Given the description of an element on the screen output the (x, y) to click on. 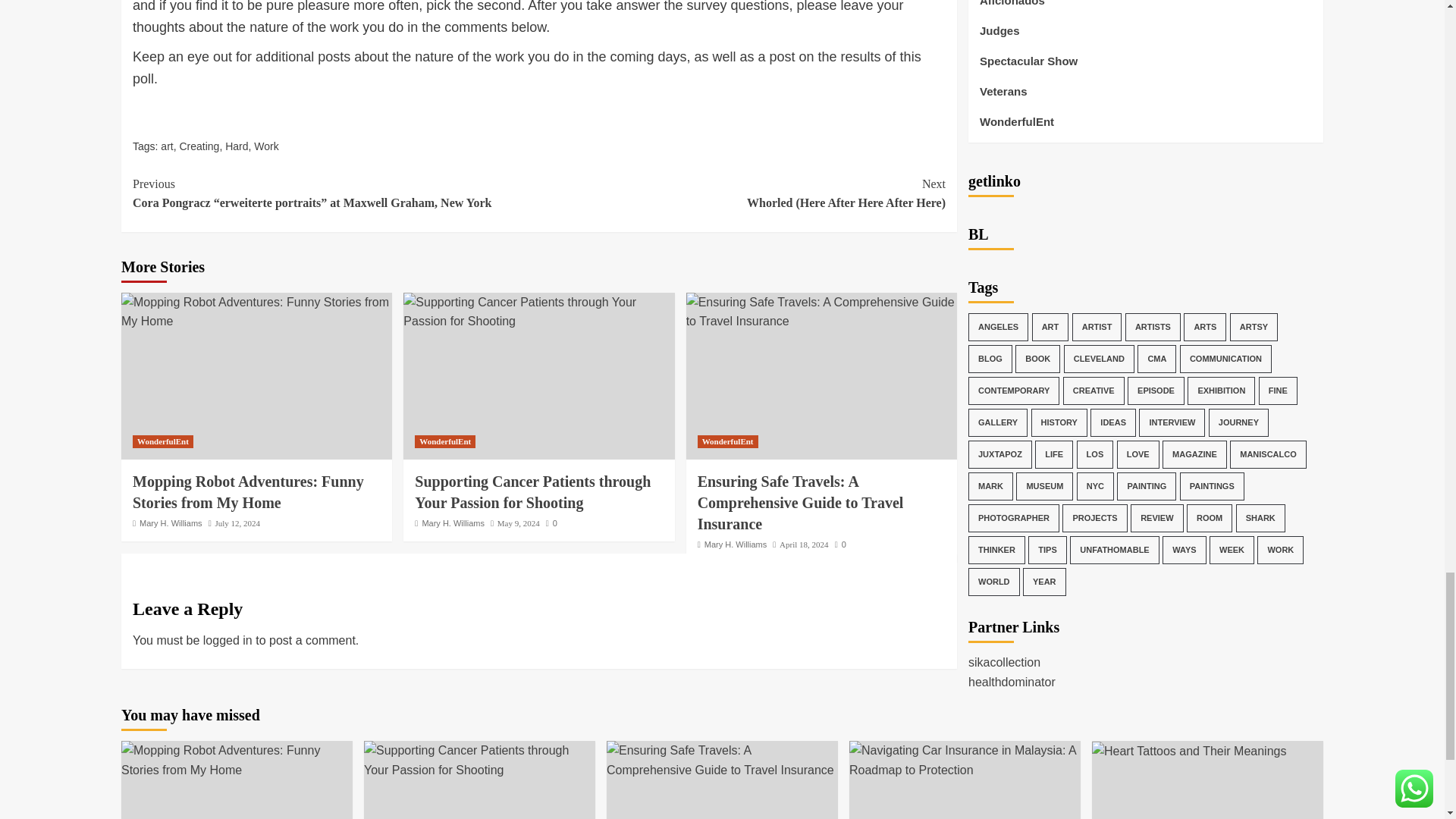
Mopping Robot Adventures: Funny Stories from My Home (236, 760)
Creating (199, 146)
Hard (236, 146)
Mopping Robot Adventures: Funny Stories from My Home (248, 492)
WonderfulEnt (162, 440)
Supporting Cancer Patients through Your Passion for Shooting (532, 492)
July 12, 2024 (237, 522)
Work (265, 146)
Mary H. Williams (170, 522)
WonderfulEnt (445, 440)
art (166, 146)
Mopping Robot Adventures: Funny Stories from My Home (255, 311)
